Given the description of an element on the screen output the (x, y) to click on. 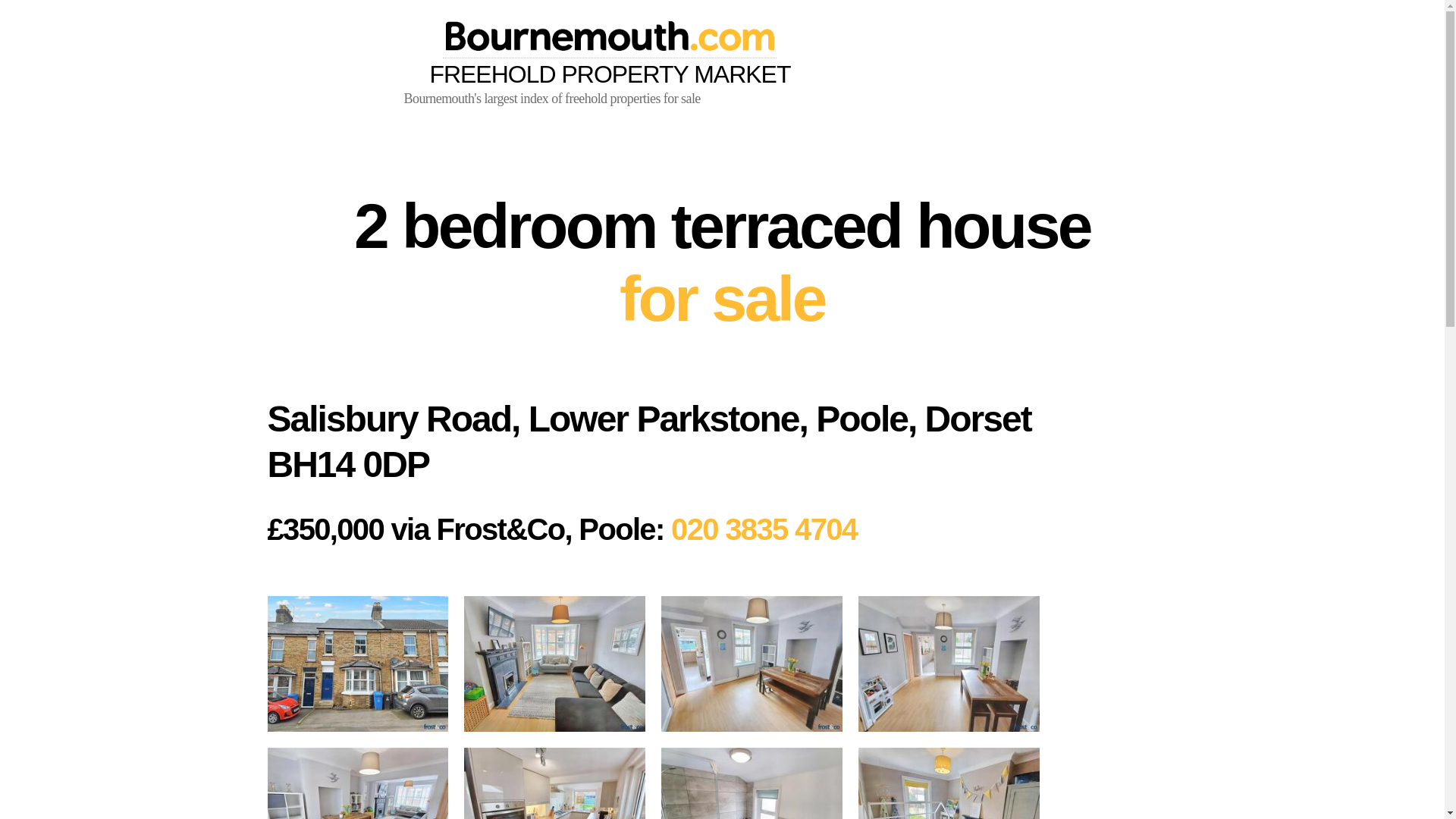
FREEHOLD PROPERTY MARKET (609, 53)
